Given the description of an element on the screen output the (x, y) to click on. 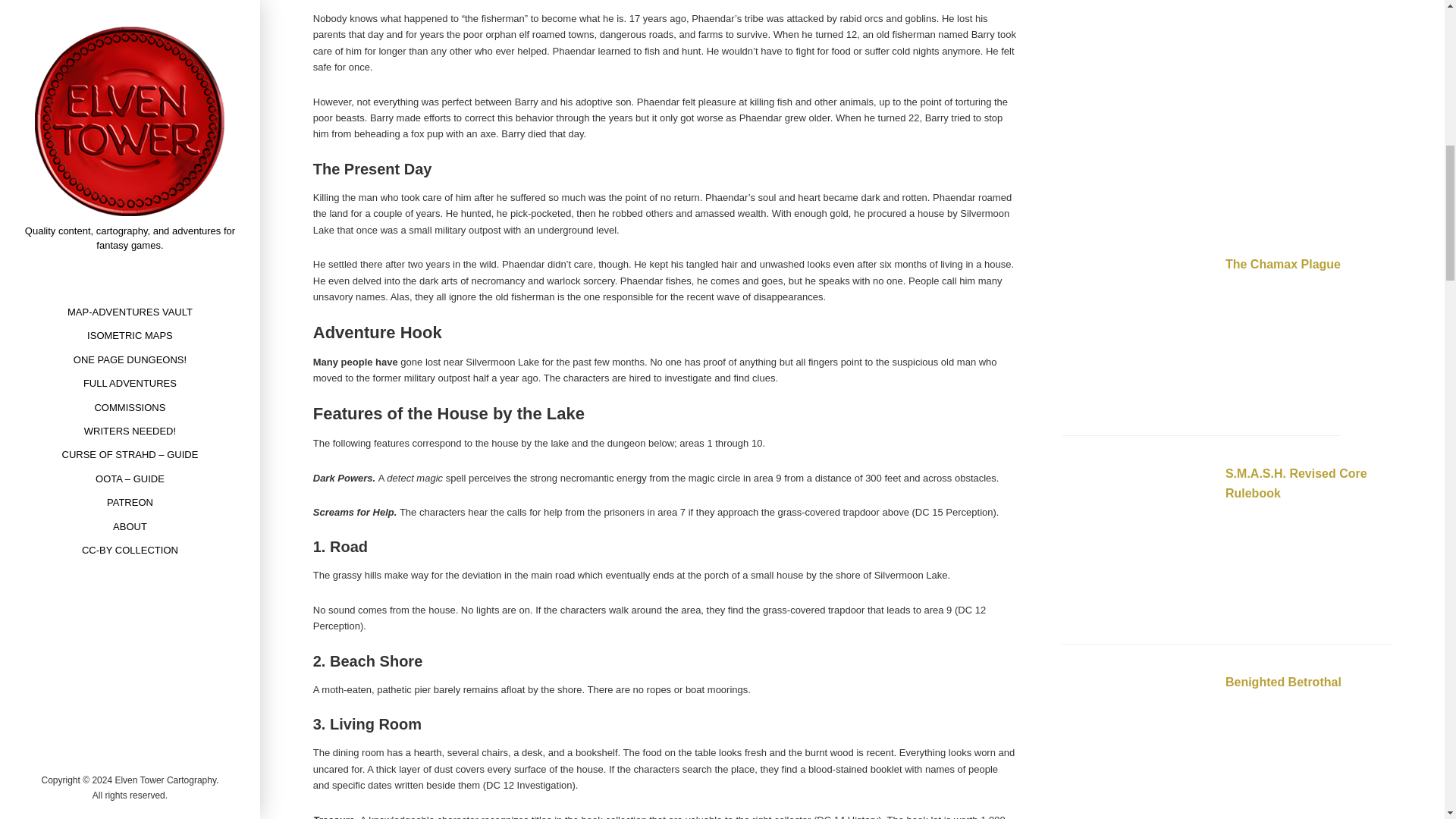
S.M.A.S.H. Revised Core Rulebook (1296, 482)
The Chamax Plague (1136, 334)
Benighted Betrothal (1136, 747)
The Chamax Plague (1282, 264)
Benighted Betrothal (1282, 681)
S.M.A.S.H. Revised Core Rulebook (1136, 542)
